Given the description of an element on the screen output the (x, y) to click on. 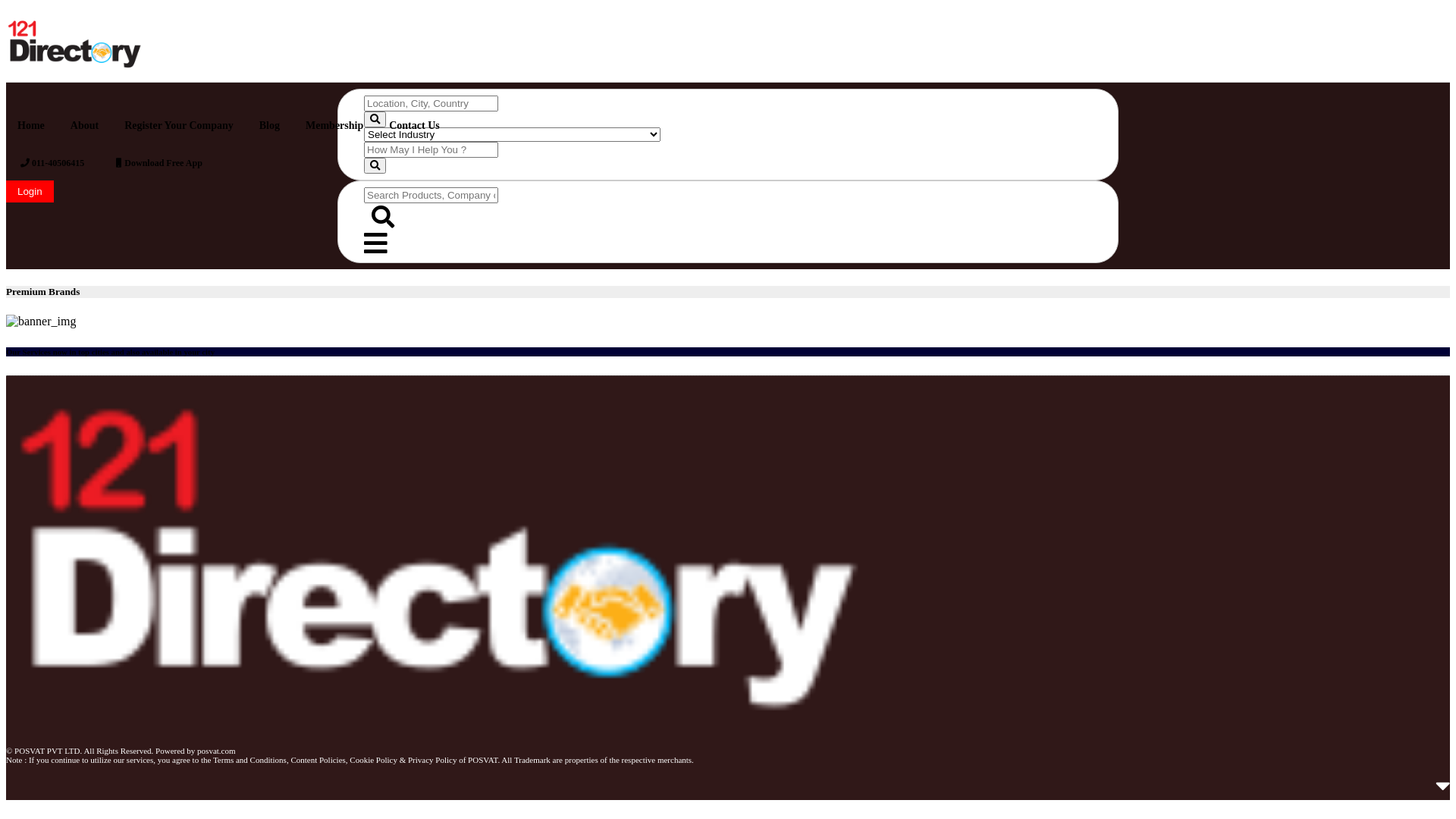
011-40506415 Element type: text (52, 162)
Contact Us Element type: text (414, 125)
About Element type: text (84, 125)
Membership Element type: text (334, 125)
posvat.com Element type: text (216, 750)
Register Your Company Element type: text (178, 125)
Home Element type: text (30, 125)
Download Free App Element type: text (158, 162)
Login Element type: text (29, 191)
Blog Element type: text (269, 125)
